Given the description of an element on the screen output the (x, y) to click on. 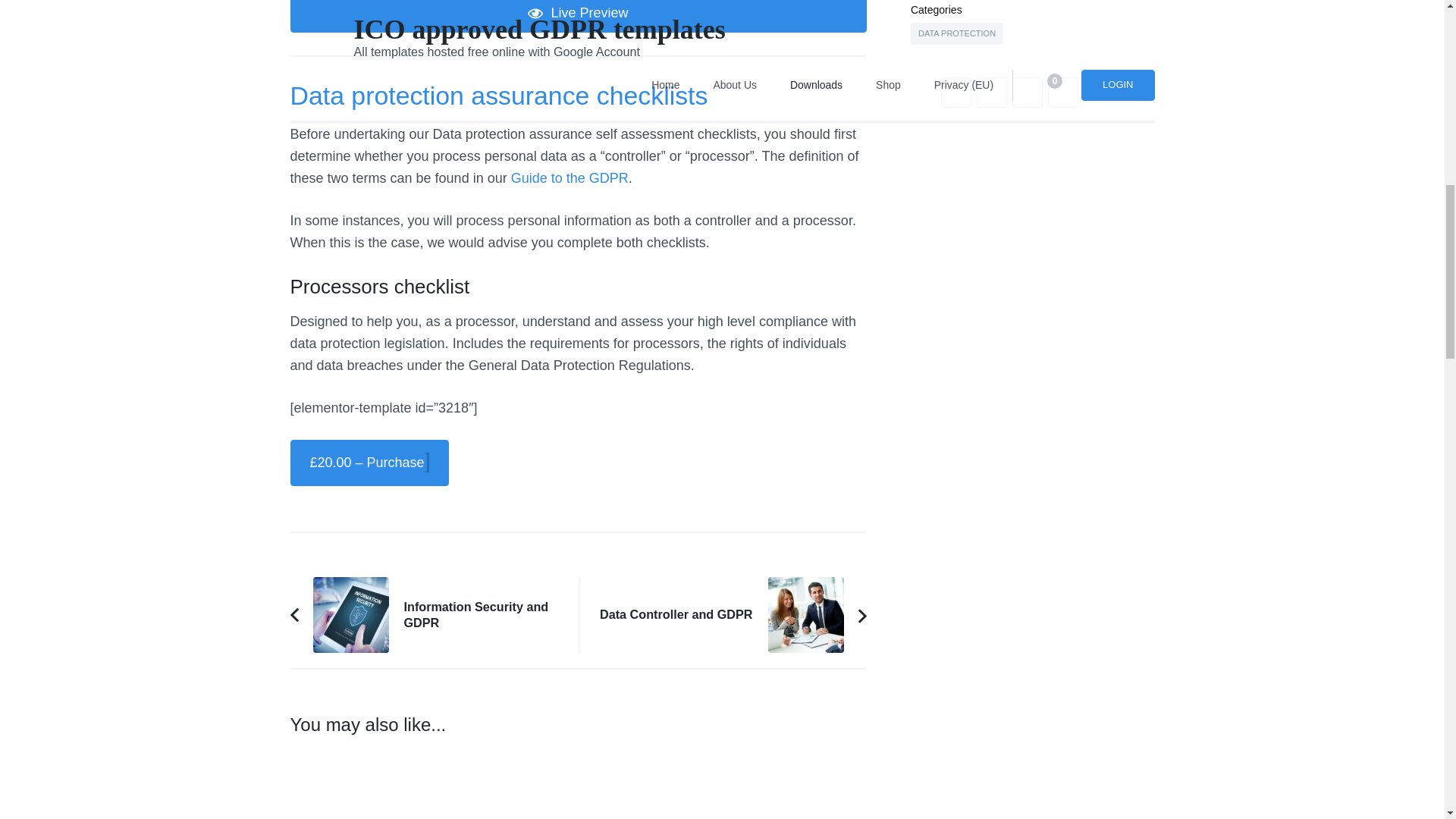
Guide to the GDPR (569, 177)
Live Preview (577, 16)
Data protection assurance checklists (498, 95)
Data Controller and GDPR (433, 614)
